Given the description of an element on the screen output the (x, y) to click on. 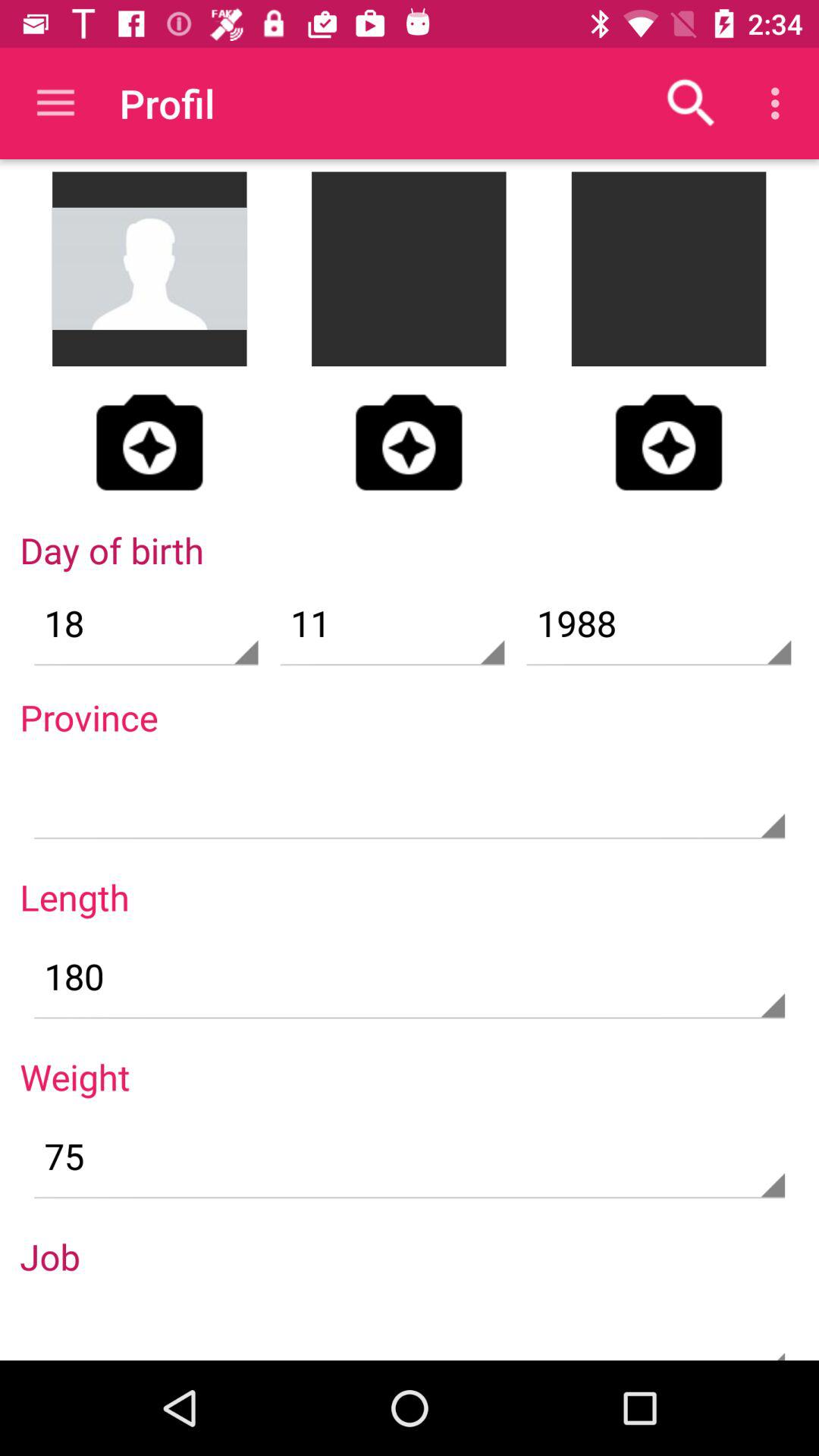
upload photo (408, 442)
